Given the description of an element on the screen output the (x, y) to click on. 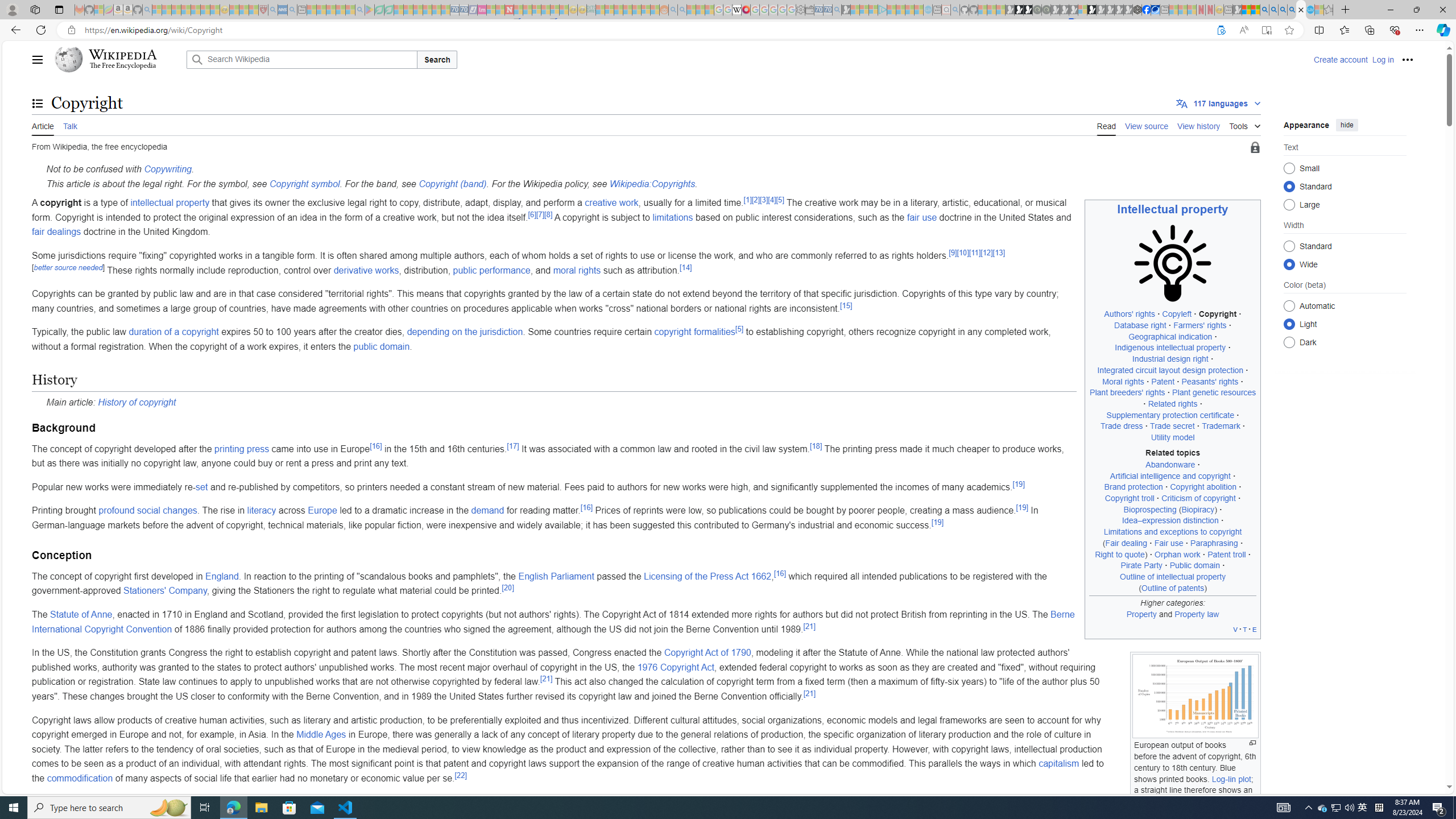
public domain (381, 346)
moral rights (577, 270)
Standard (1289, 245)
Article (42, 124)
Page semi-protected (1254, 147)
Bioprospecting (1149, 509)
hide (1347, 124)
1976 Copyright Act (675, 666)
